Given the description of an element on the screen output the (x, y) to click on. 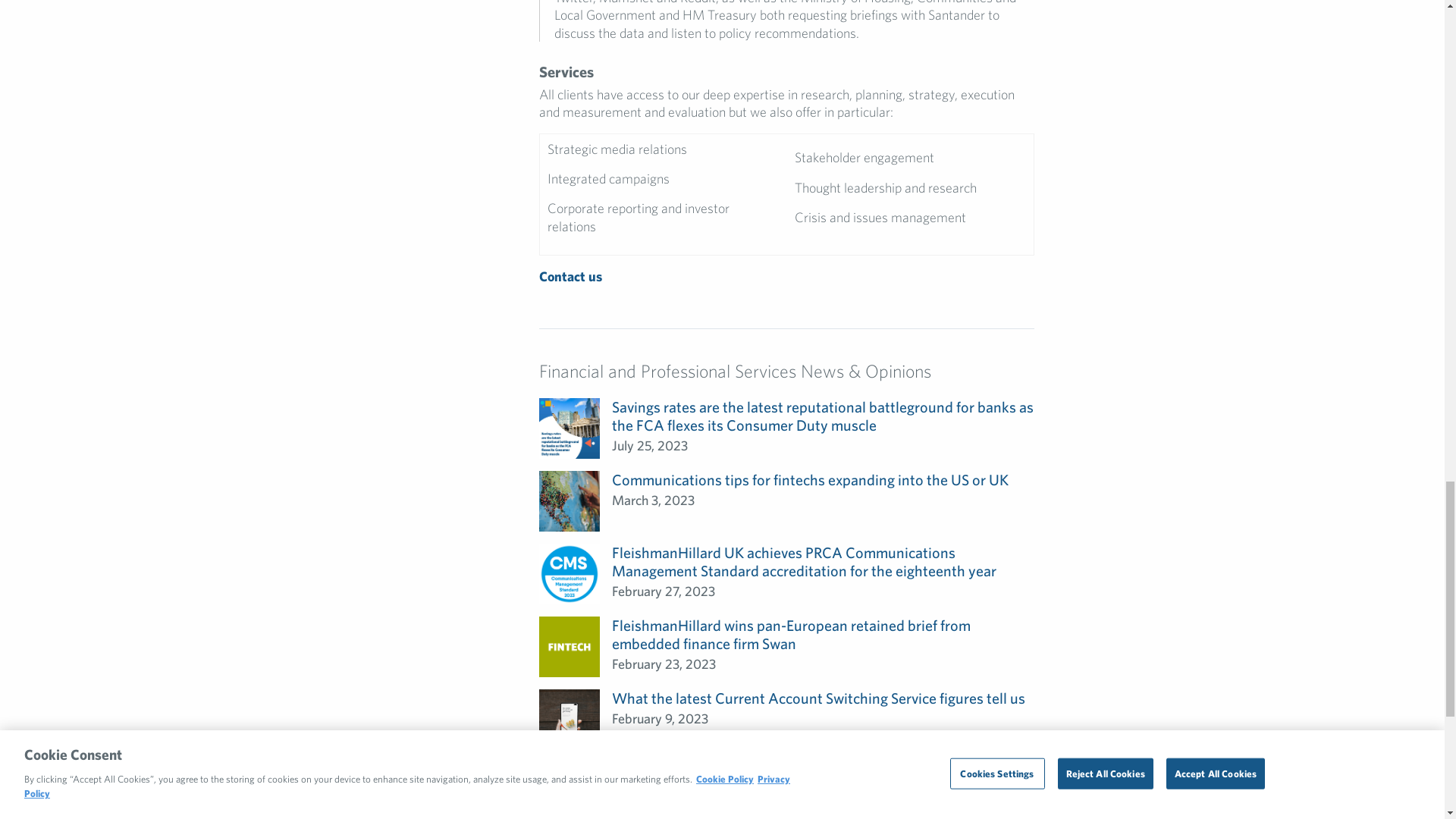
Communications tips for fintechs expanding into the US or UK (810, 479)
Contact us (570, 276)
